Given the description of an element on the screen output the (x, y) to click on. 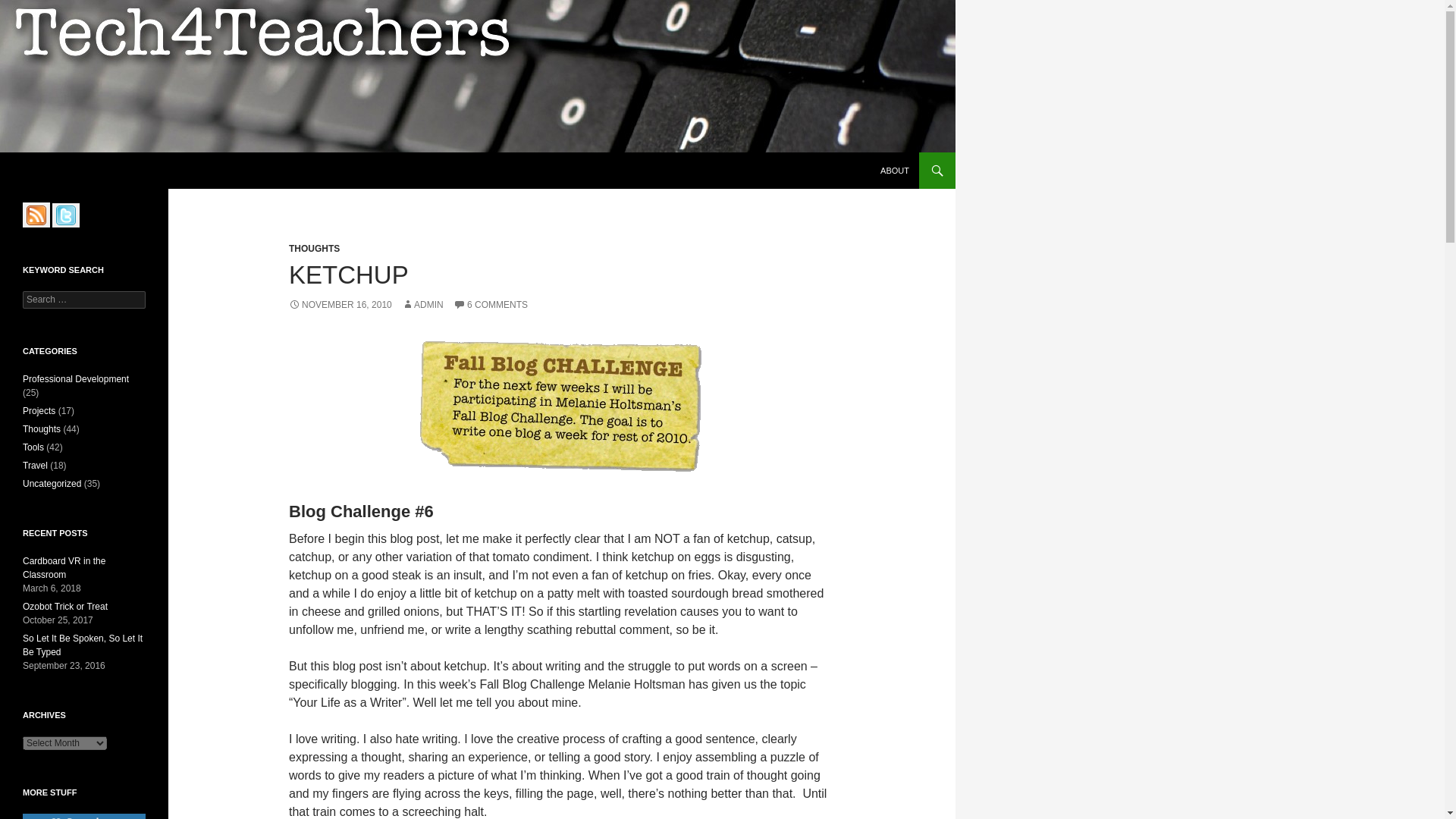
Travel (35, 465)
ADMIN (422, 304)
NOVEMBER 16, 2010 (339, 304)
Ozobot Trick or Treat (65, 606)
Follow me on Twitter (66, 214)
THOUGHTS (313, 248)
Search (30, 8)
Cardboard VR in the Classroom (63, 567)
Professional Development (76, 378)
